Given the description of an element on the screen output the (x, y) to click on. 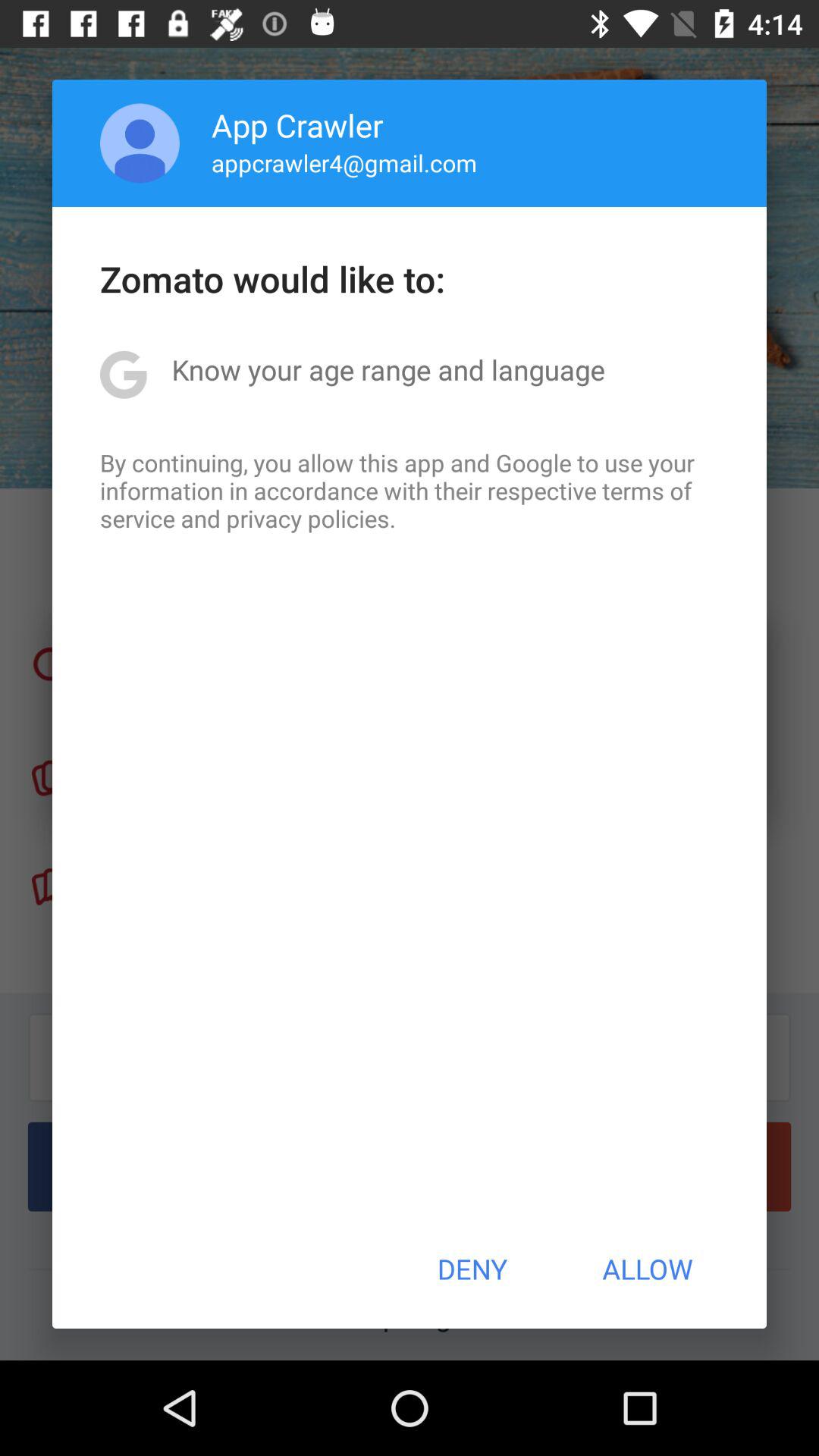
choose icon to the left of app crawler (139, 143)
